Given the description of an element on the screen output the (x, y) to click on. 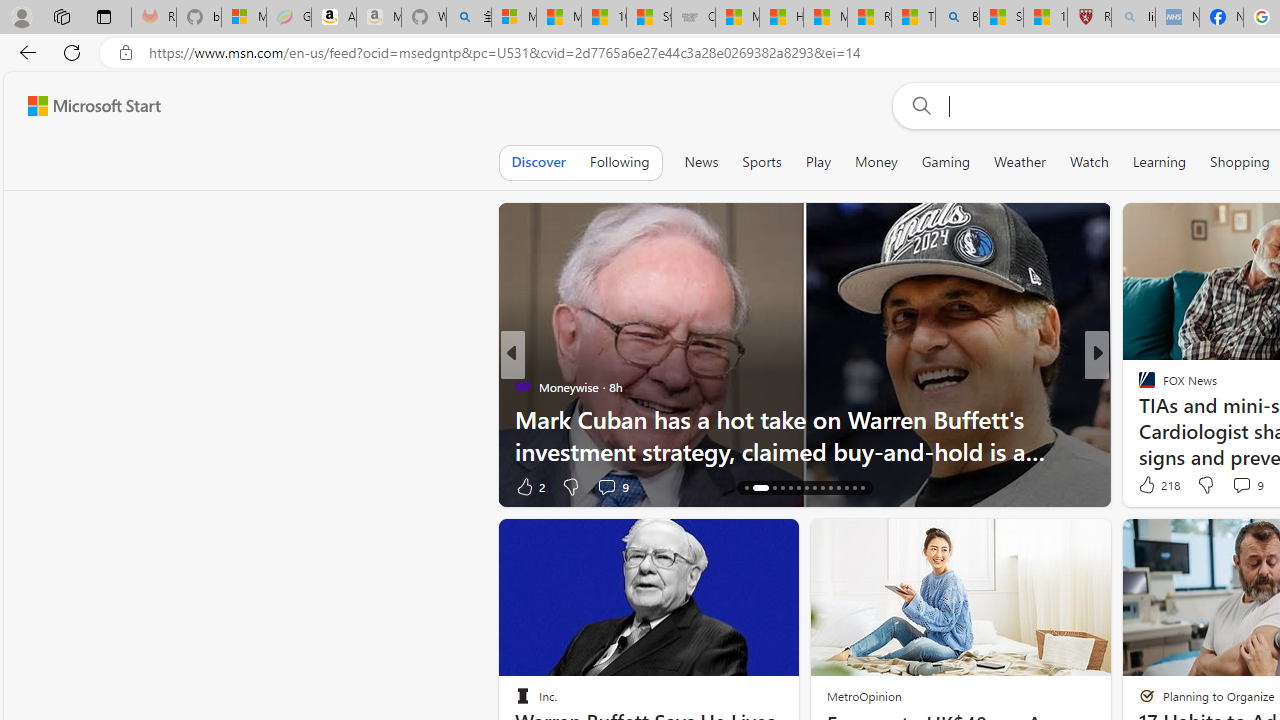
View comments 66 Comment (1234, 485)
Constative (1138, 386)
MarketBeat (1138, 418)
These 3 Stocks Pay You More Than 5% to Own Them (804, 450)
View comments 23 Comment (1234, 485)
save70.com (1161, 418)
AutomationID: tab-16 (754, 487)
